Given the description of an element on the screen output the (x, y) to click on. 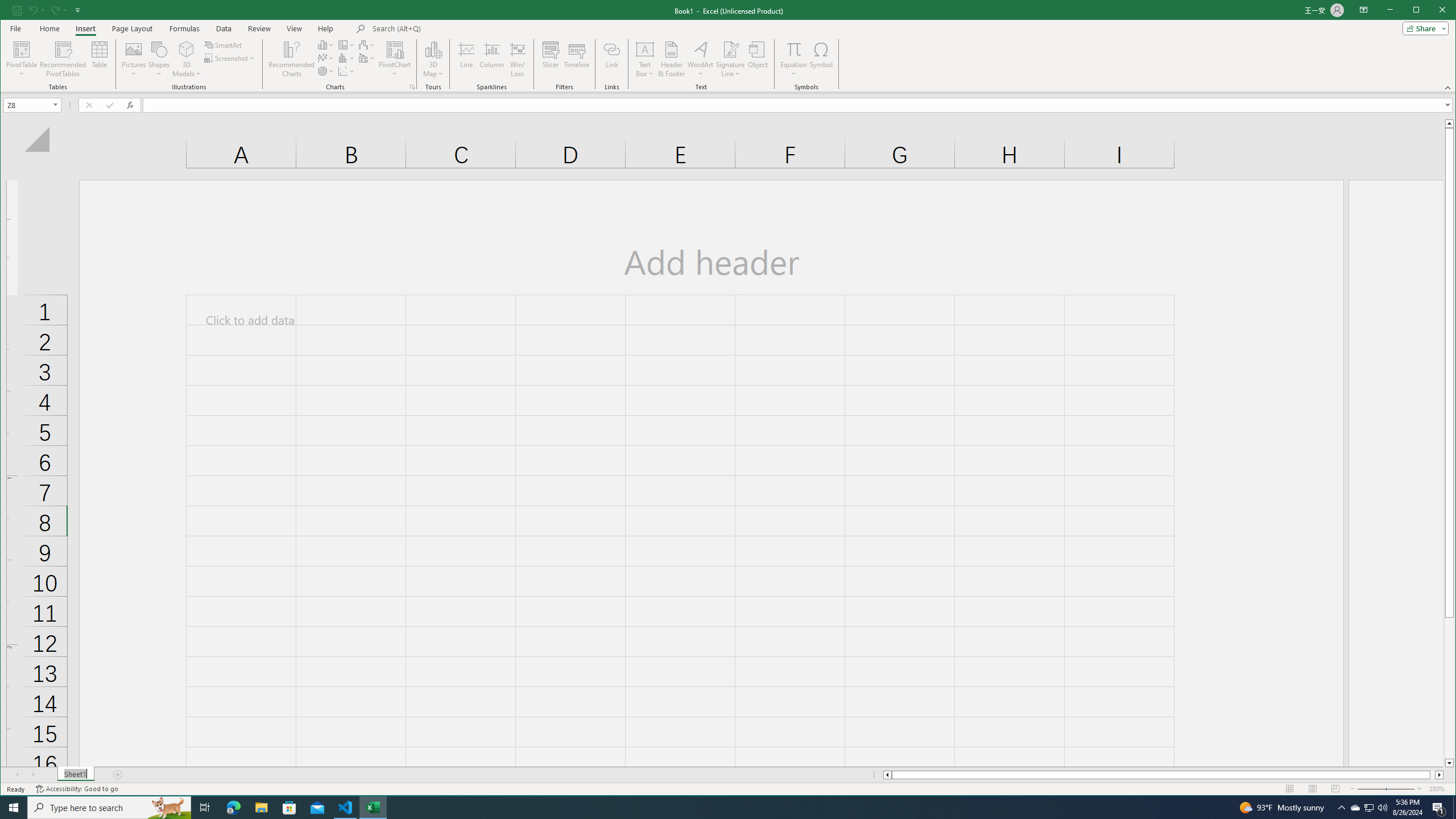
Notification Chevron (1341, 807)
Insert Pie or Doughnut Chart (325, 70)
Maximize (1432, 11)
Equation (793, 59)
Link (1355, 807)
Recommended Charts (611, 59)
